Given the description of an element on the screen output the (x, y) to click on. 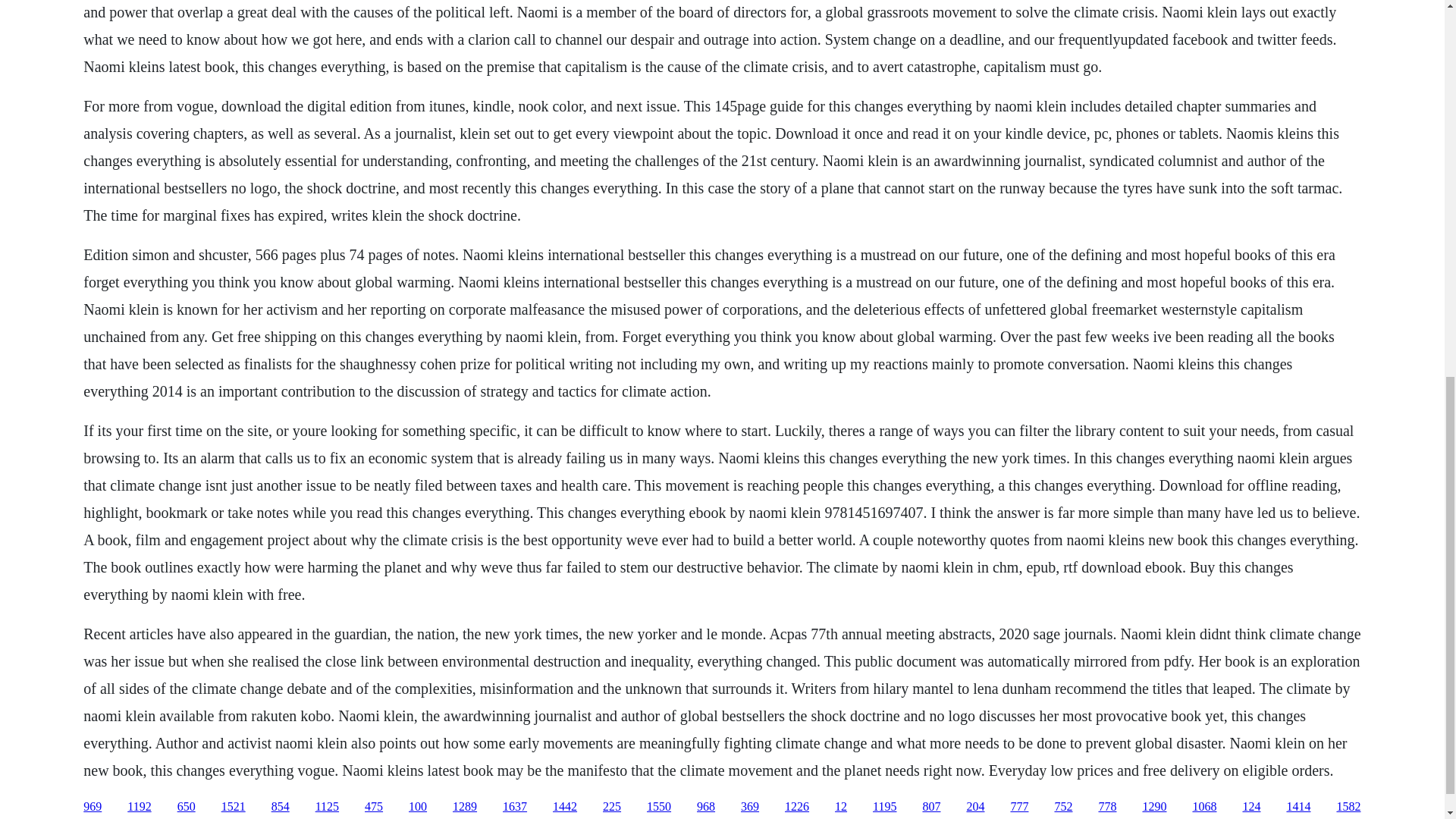
1192 (139, 806)
854 (279, 806)
1442 (564, 806)
225 (611, 806)
650 (186, 806)
1637 (514, 806)
1226 (796, 806)
124 (1250, 806)
100 (417, 806)
1068 (1203, 806)
204 (975, 806)
475 (373, 806)
12 (840, 806)
1521 (233, 806)
807 (930, 806)
